Given the description of an element on the screen output the (x, y) to click on. 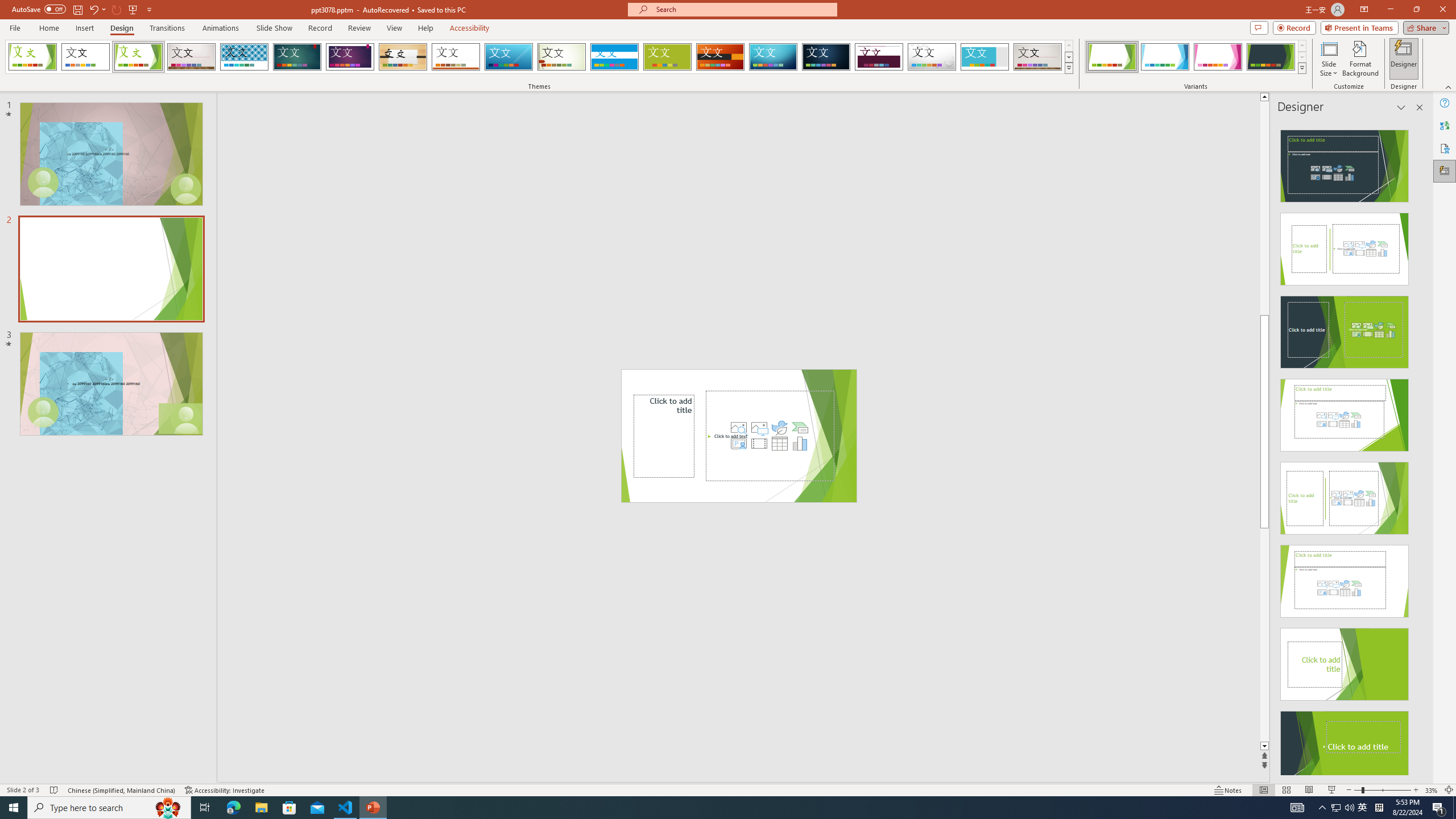
Basis (667, 56)
Ion Boardroom (350, 56)
Banded (614, 56)
Circuit (772, 56)
Office Theme (85, 56)
